Given the description of an element on the screen output the (x, y) to click on. 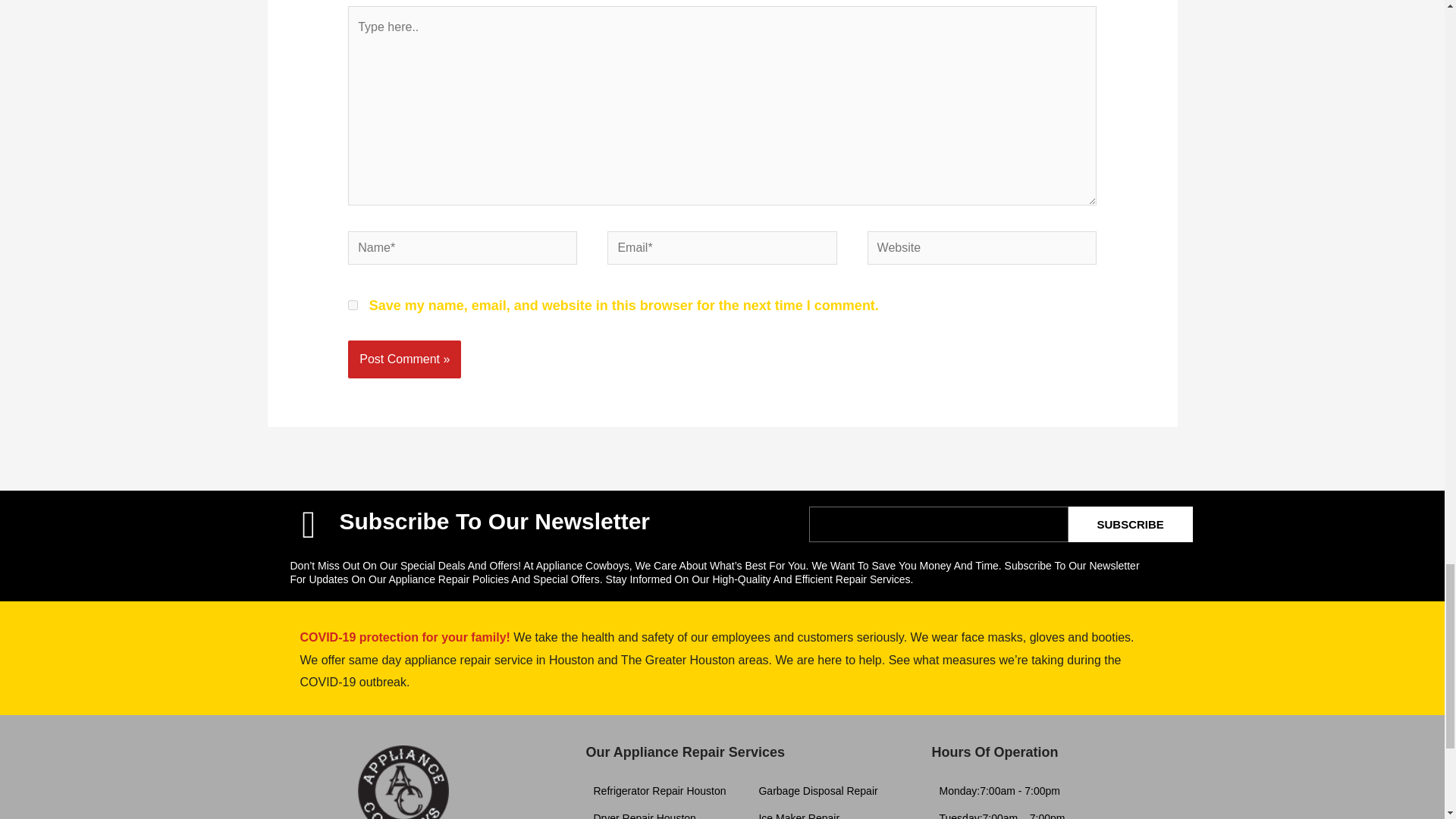
yes (352, 305)
